Given the description of an element on the screen output the (x, y) to click on. 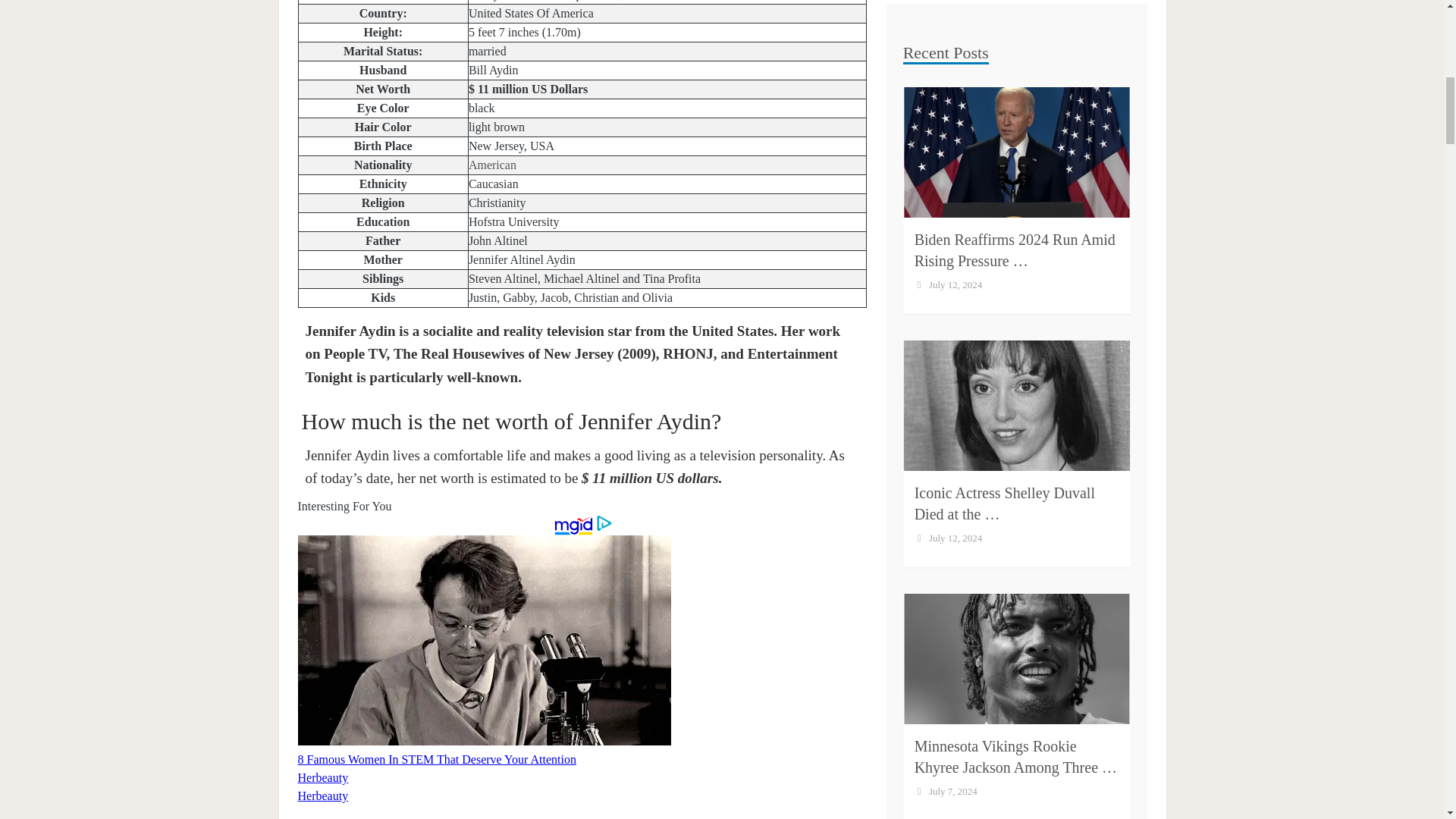
American (492, 164)
